Given the description of an element on the screen output the (x, y) to click on. 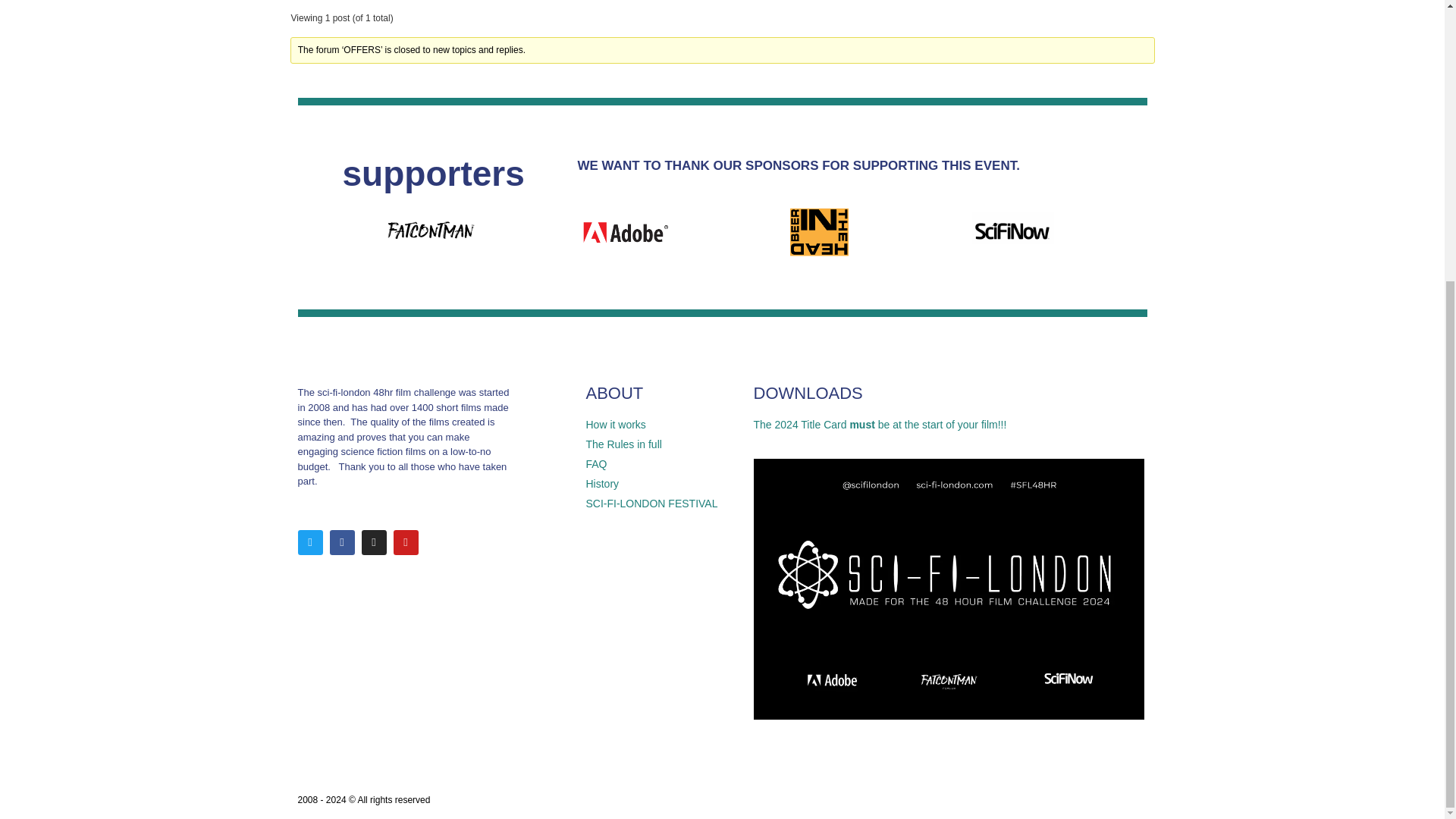
History (661, 483)
FAQ (661, 464)
The Rules in full (661, 444)
SCI-FI-LONDON FESTIVAL (661, 503)
How it works (661, 424)
